Given the description of an element on the screen output the (x, y) to click on. 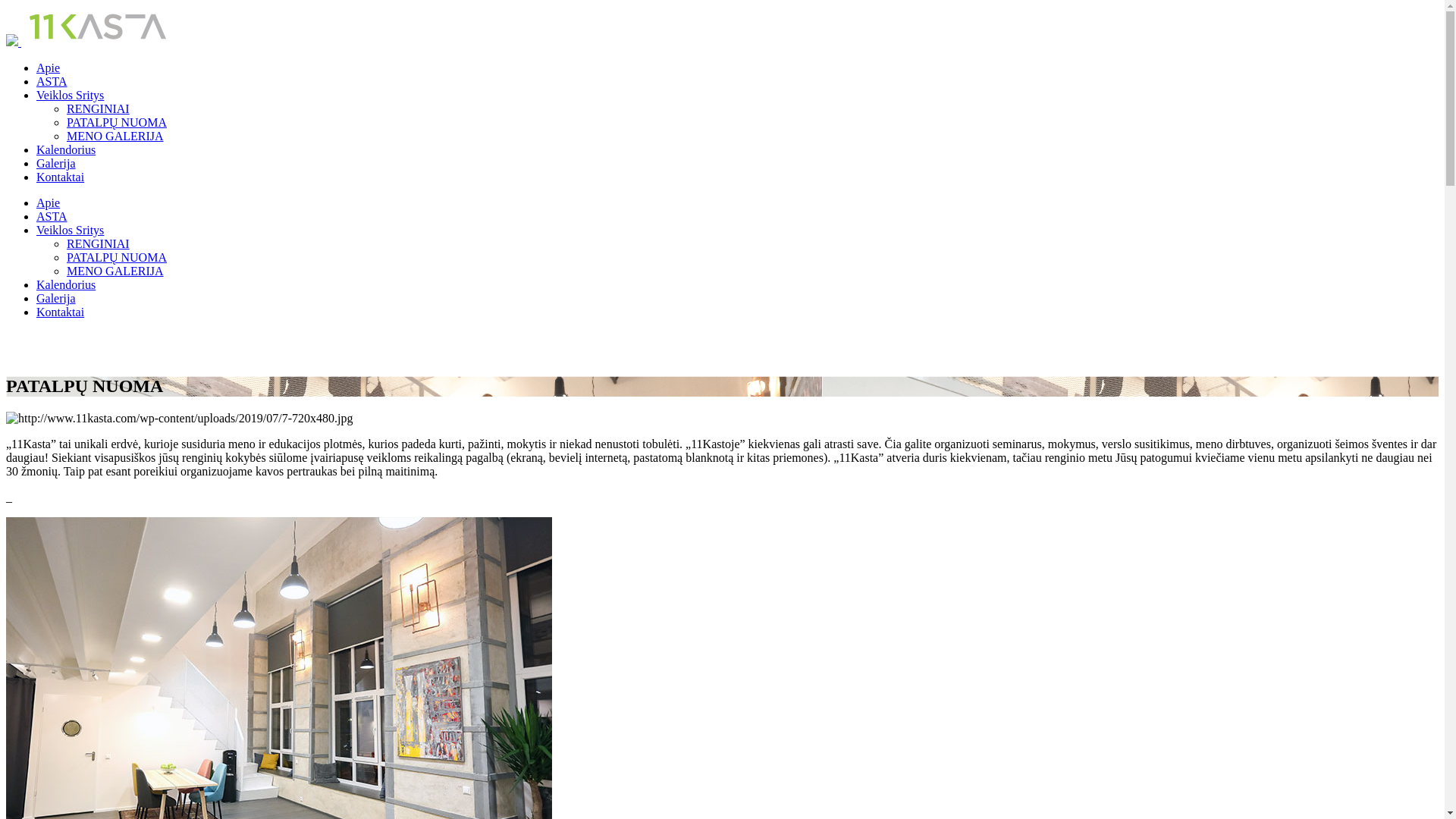
Kontaktai Element type: text (60, 176)
ASTA Element type: text (51, 216)
Kalendorius Element type: text (65, 149)
Apie Element type: text (47, 202)
MENO GALERIJA Element type: text (114, 270)
RENGINIAI Element type: text (97, 243)
Veiklos Sritys Element type: text (69, 229)
Veiklos Sritys Element type: text (69, 94)
Galerija Element type: text (55, 162)
RENGINIAI Element type: text (97, 108)
Galerija Element type: text (55, 297)
Kalendorius Element type: text (65, 284)
MENO GALERIJA Element type: text (114, 135)
Kontaktai Element type: text (60, 311)
ASTA Element type: text (51, 81)
Apie Element type: text (47, 67)
